Given the description of an element on the screen output the (x, y) to click on. 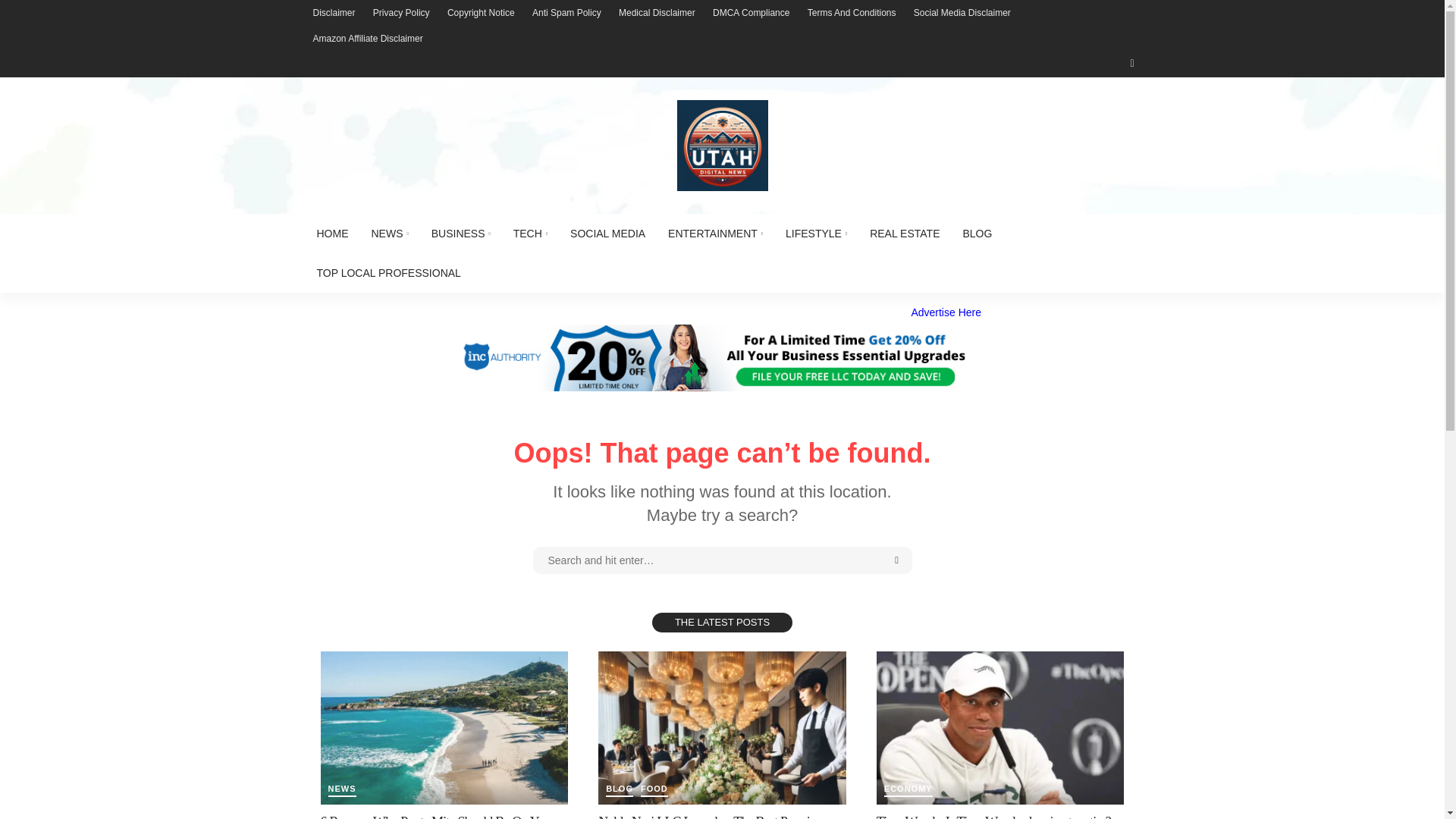
NEWS (389, 233)
News (341, 790)
search for: (721, 560)
DMCA Compliance (750, 12)
TECH (530, 233)
Privacy Policy (401, 12)
Amazon Affiliate Disclaimer (366, 38)
Social Media Disclaimer (961, 12)
Terms And Conditions (851, 12)
HOME (331, 233)
Copyright Notice (480, 12)
BUSINESS (461, 233)
Disclaimer (333, 12)
Medical Disclaimer (657, 12)
6 Reasons Why Punta Mita Should Be On Your Travel List (443, 727)
